Given the description of an element on the screen output the (x, y) to click on. 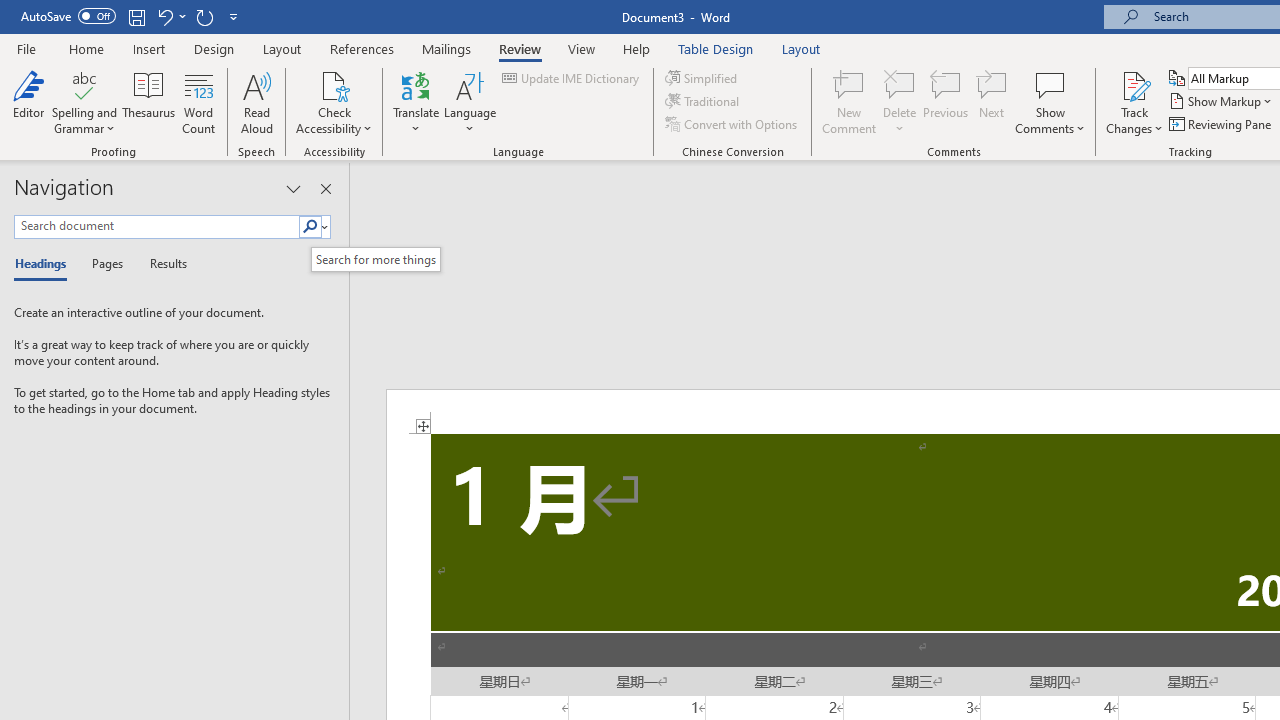
Translate (415, 102)
Delete (900, 84)
Check Accessibility (334, 84)
Reviewing Pane (1221, 124)
New Comment (849, 102)
Previous (946, 102)
